Given the description of an element on the screen output the (x, y) to click on. 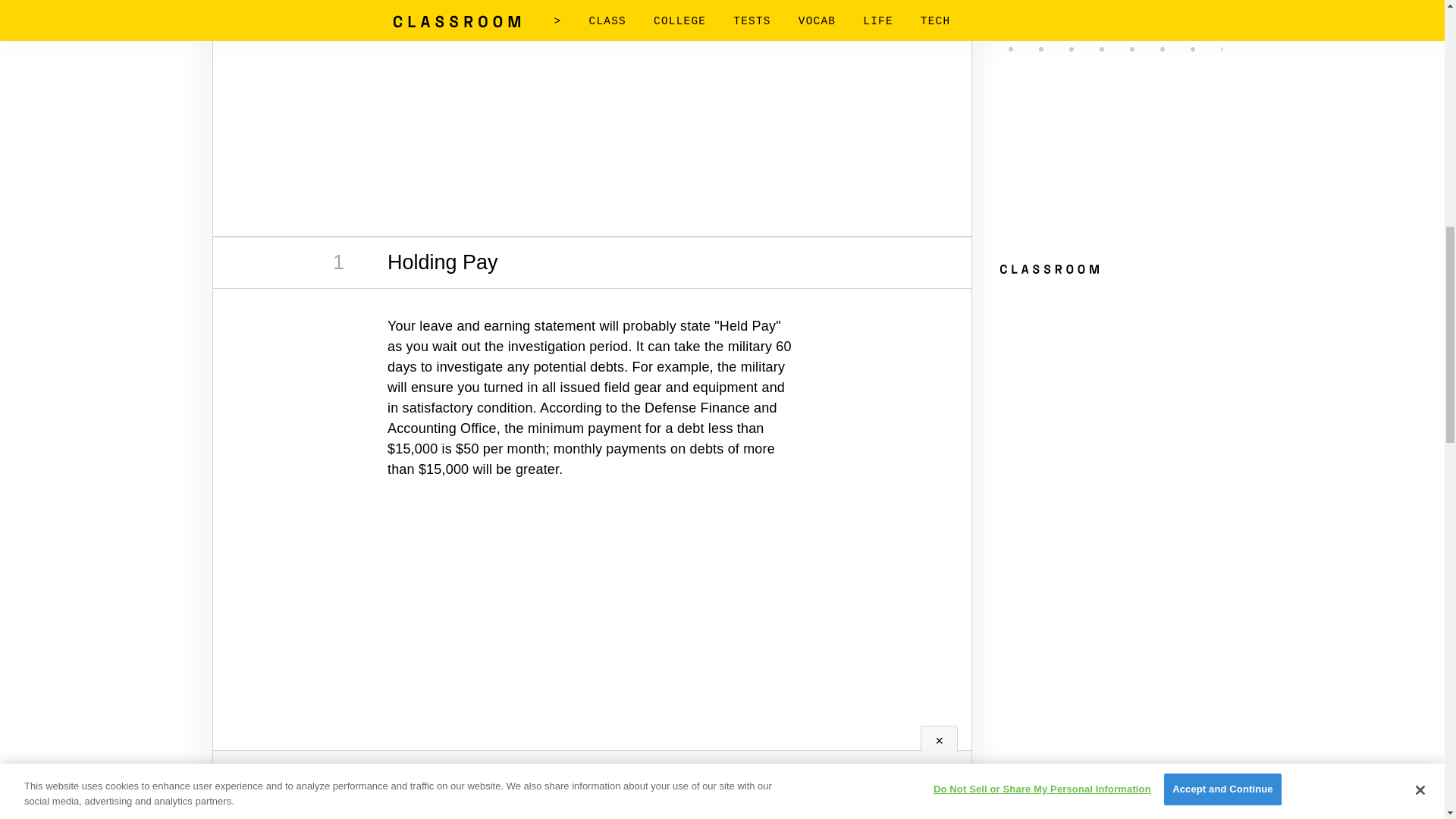
3rd party ad content (592, 636)
